Given the description of an element on the screen output the (x, y) to click on. 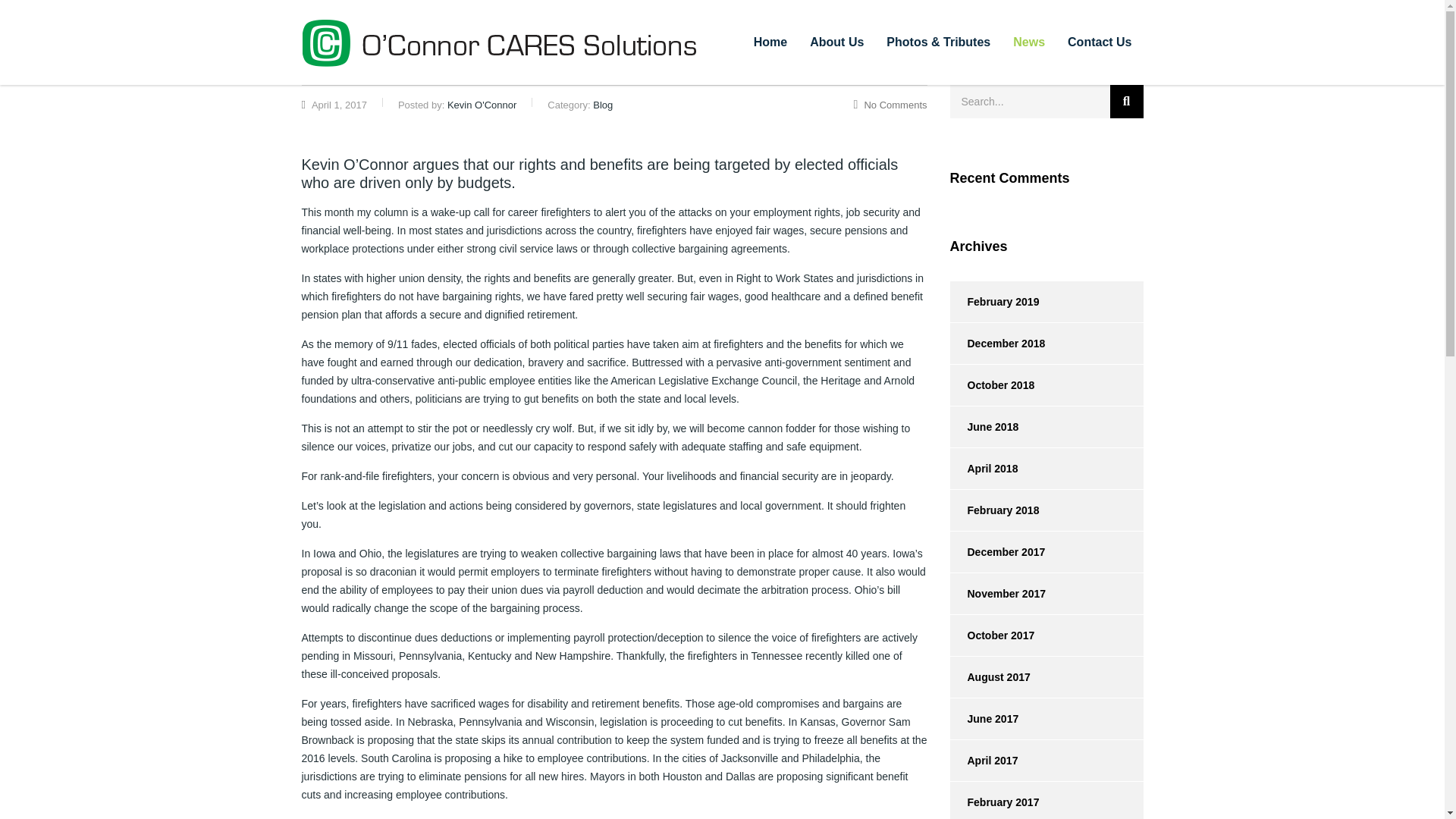
June 2018 (983, 426)
October 2017 (991, 635)
April 2018 (983, 467)
About Us (836, 42)
August 2017 (989, 676)
Contact Us (1099, 42)
February 2017 (994, 800)
December 2018 (997, 342)
December 2017 (997, 551)
February 2019 (994, 301)
